Given the description of an element on the screen output the (x, y) to click on. 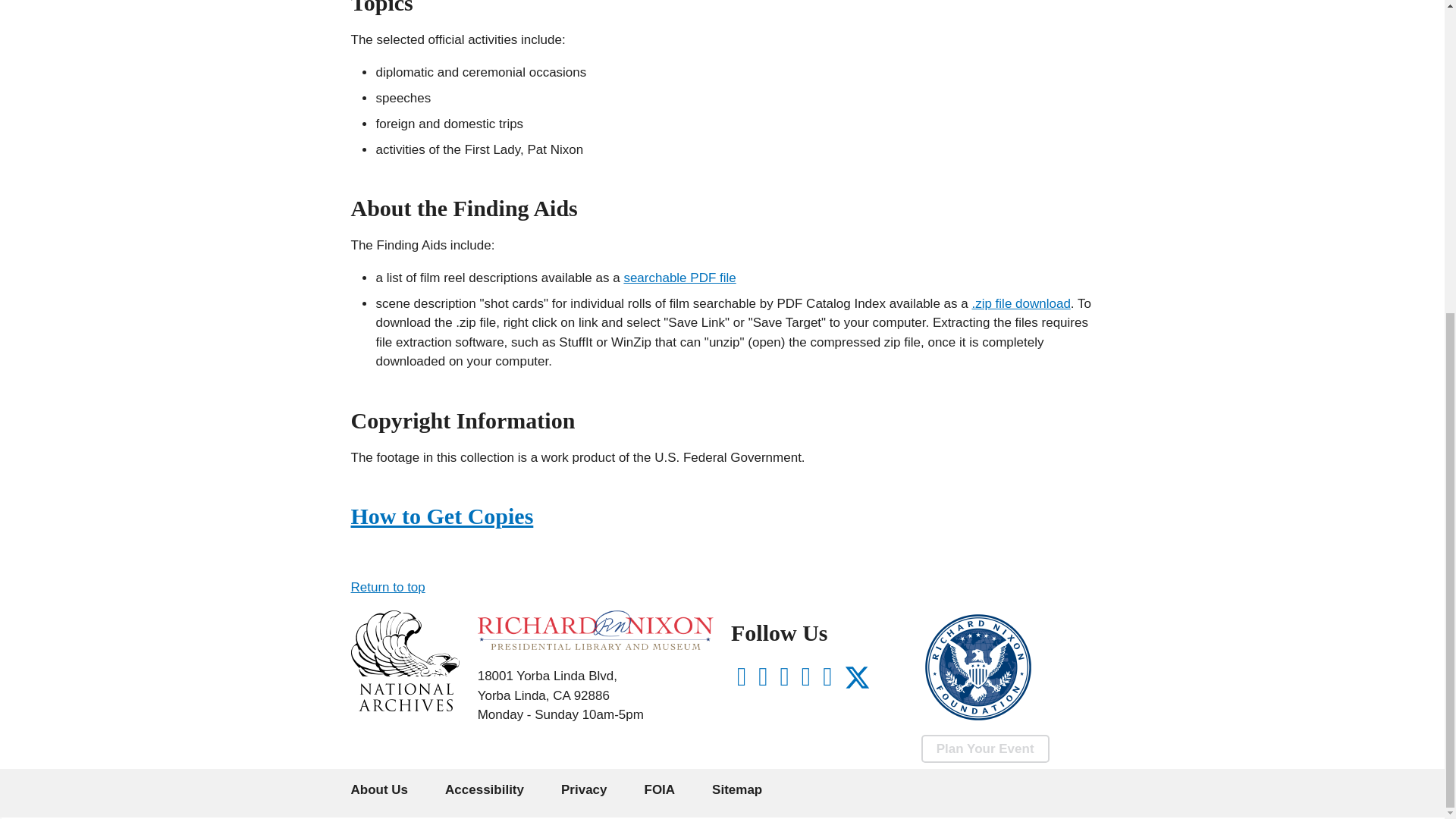
Richard Nixon Library and Museum Logo Color (595, 630)
National Archives Logo (404, 707)
